Given the description of an element on the screen output the (x, y) to click on. 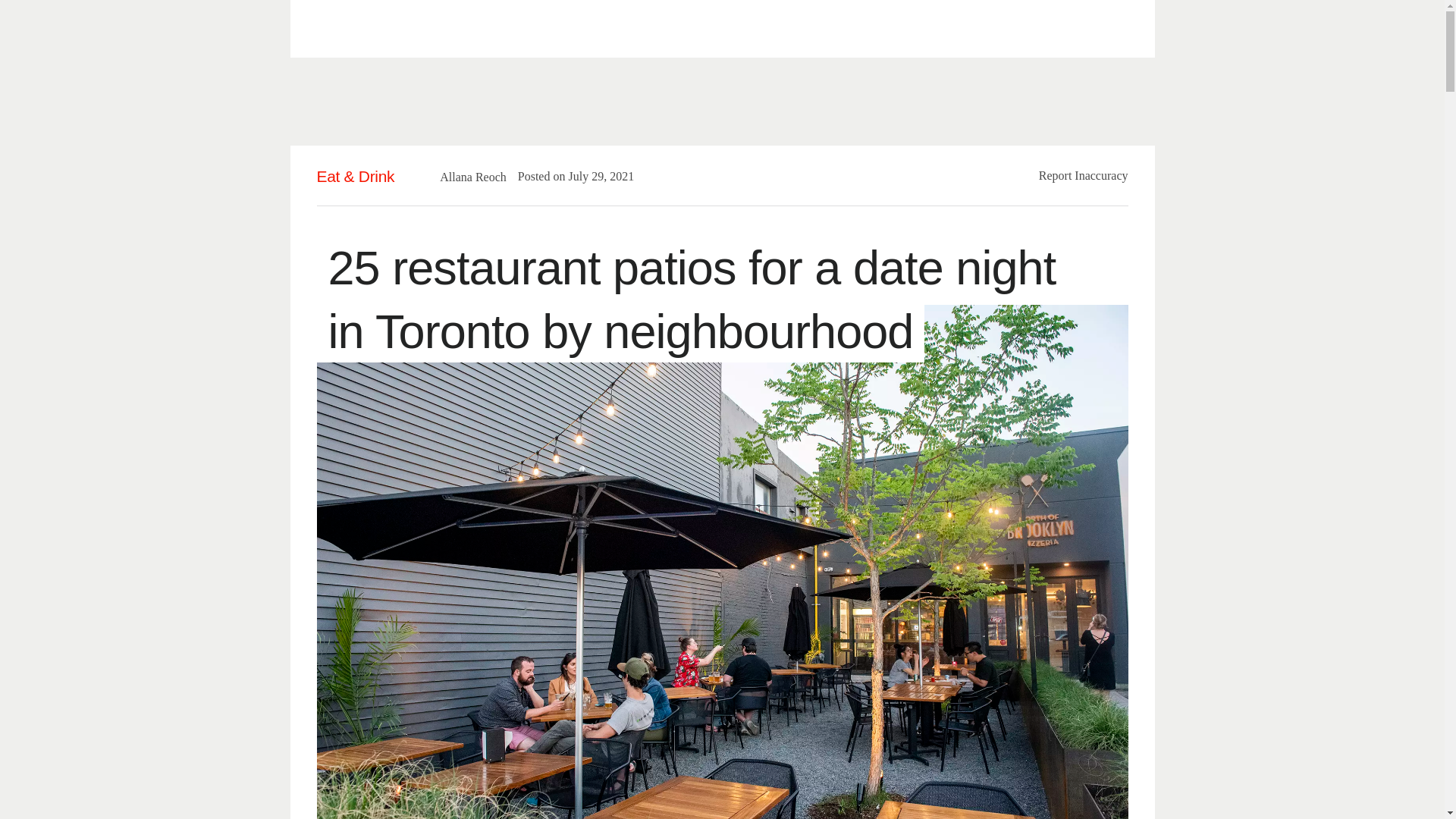
Report Inaccuracy (1083, 174)
2021-07-29T08:15:51 (593, 175)
